Given the description of an element on the screen output the (x, y) to click on. 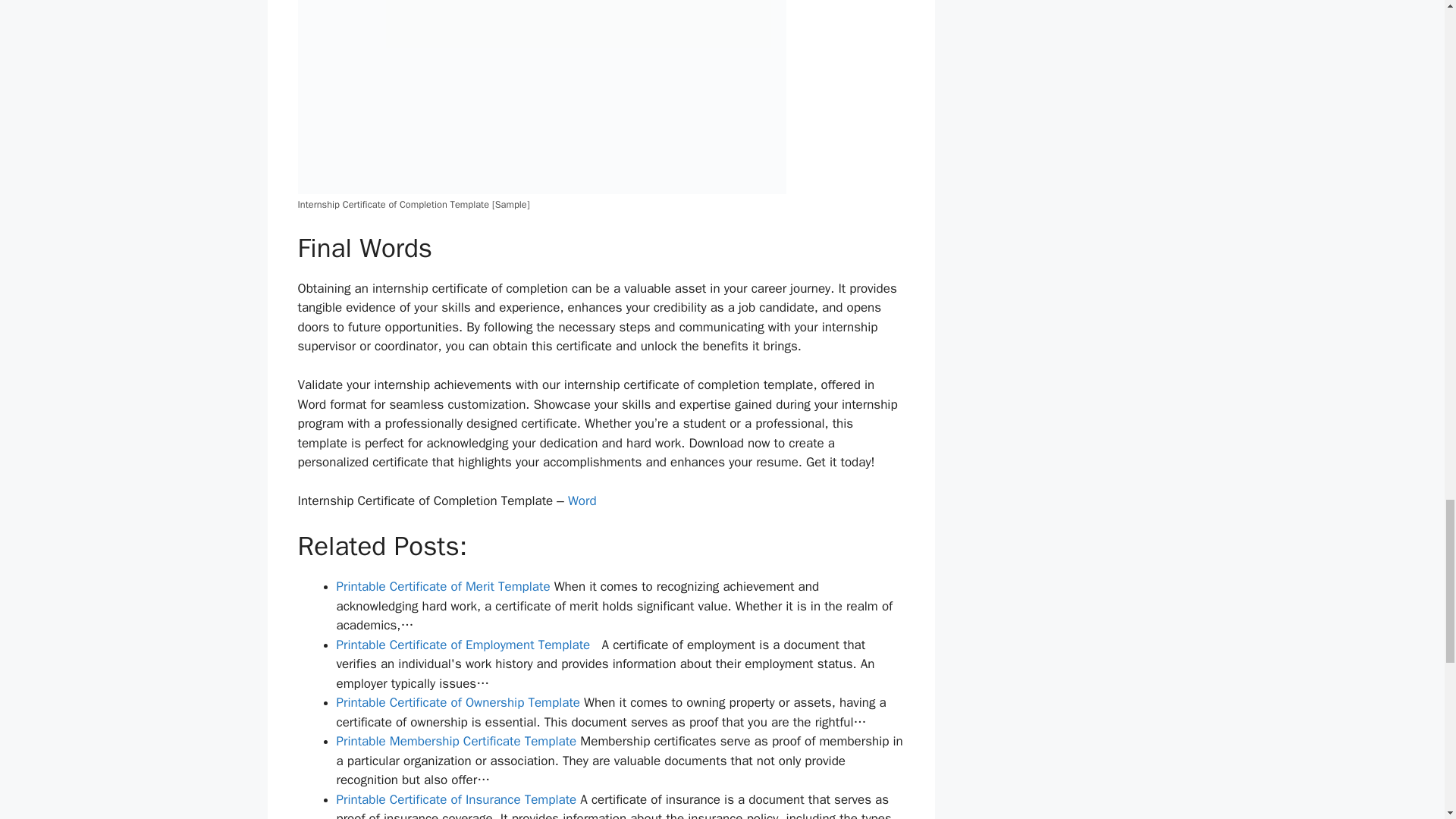
Printable Certificate of Ownership Template (457, 702)
Internship Certificate of Completion Template (541, 97)
Printable Certificate of Employment Template (463, 644)
Printable Membership Certificate Template (456, 741)
Word (581, 500)
Printable Certificate of Merit Template (443, 586)
Printable Certificate of Insurance Template (456, 799)
